Given the description of an element on the screen output the (x, y) to click on. 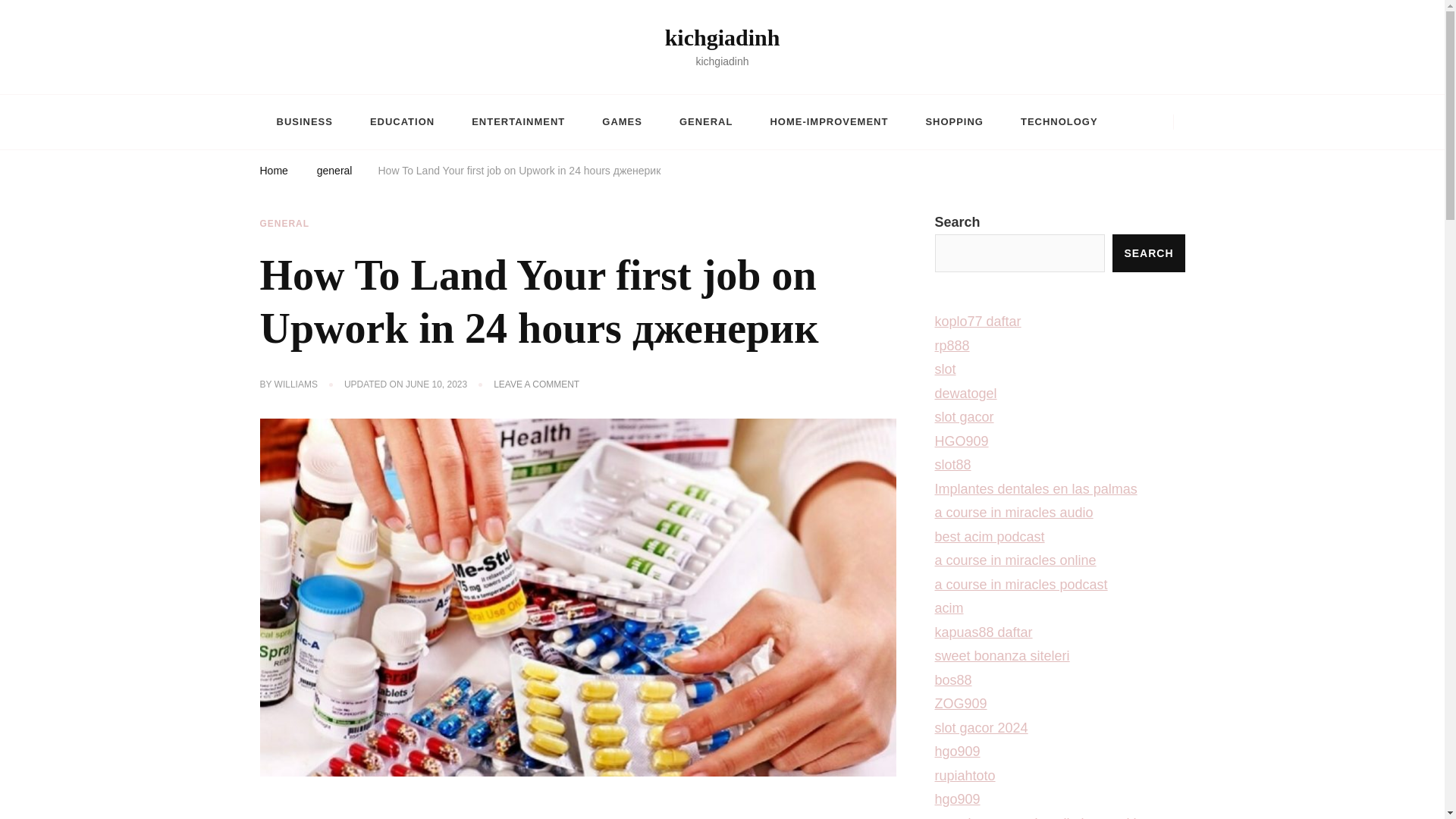
ENTERTAINMENT (517, 121)
BUSINESS (304, 121)
WILLIAMS (296, 385)
JUNE 10, 2023 (436, 385)
GAMES (622, 121)
kichgiadinh (722, 37)
TECHNOLOGY (1059, 121)
EDUCATION (402, 121)
Home (272, 172)
HOME-IMPROVEMENT (828, 121)
